Given the description of an element on the screen output the (x, y) to click on. 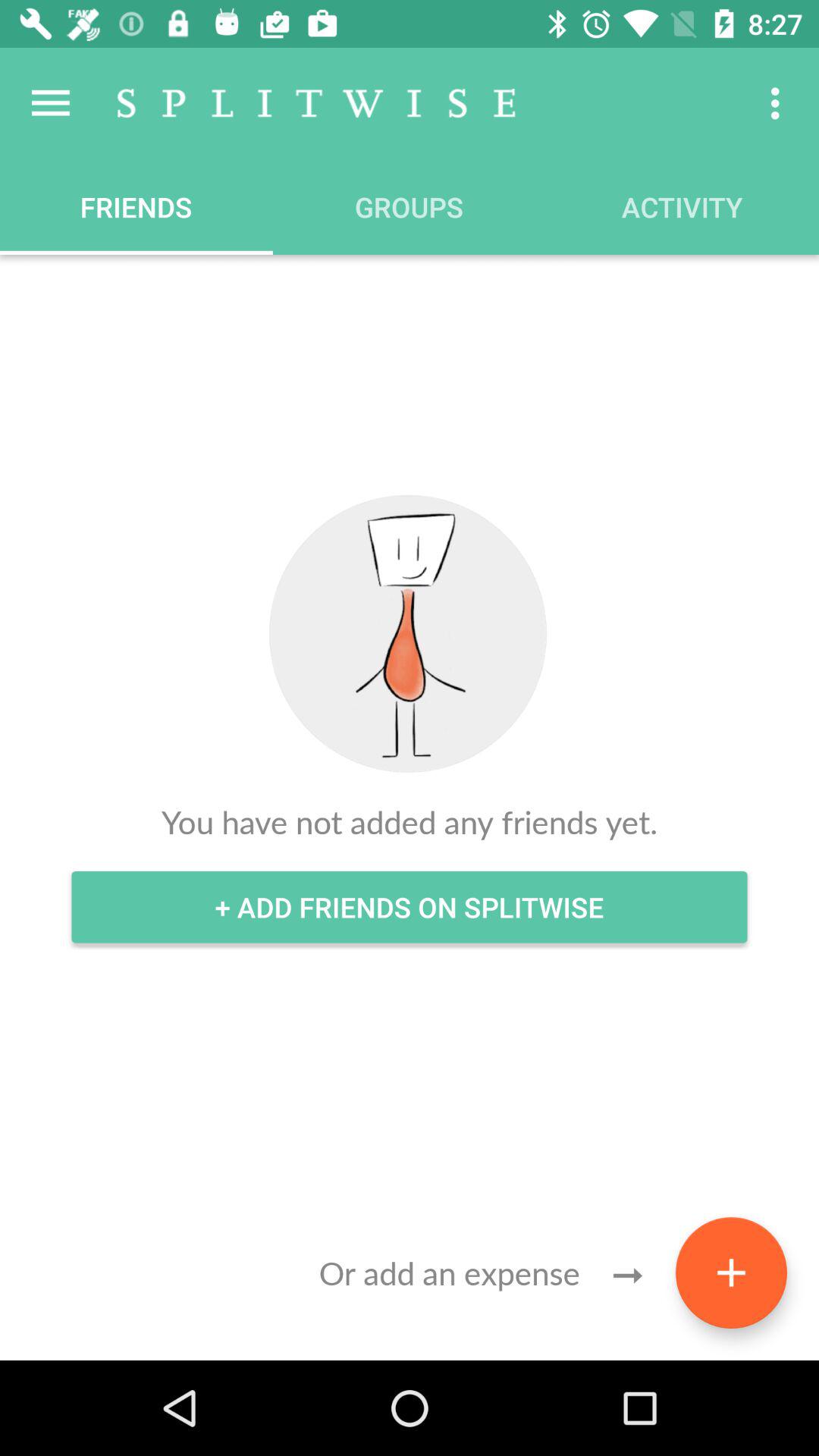
open icon below you have not (409, 906)
